Given the description of an element on the screen output the (x, y) to click on. 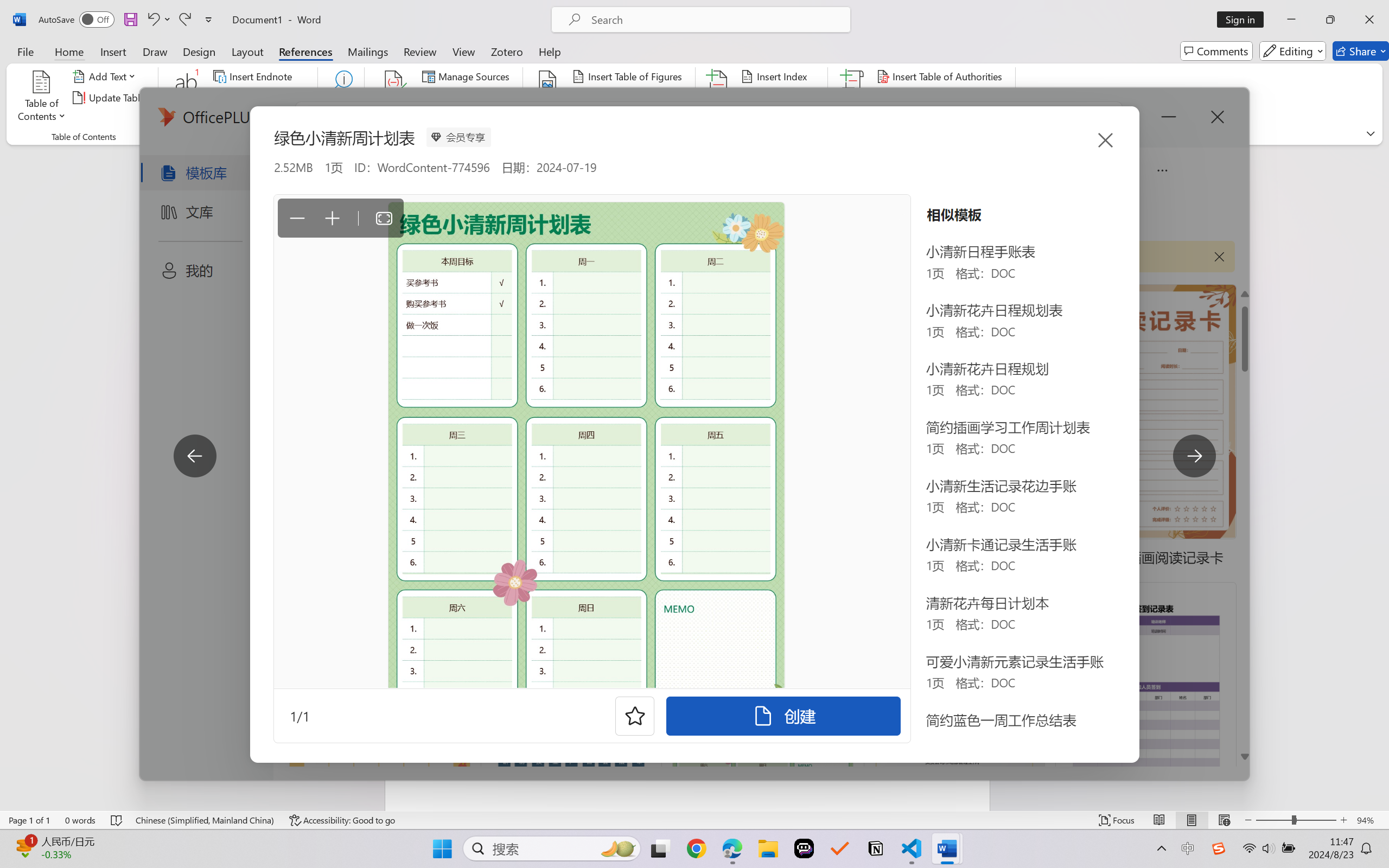
Insert Caption... (547, 97)
Update Index (778, 97)
